Given the description of an element on the screen output the (x, y) to click on. 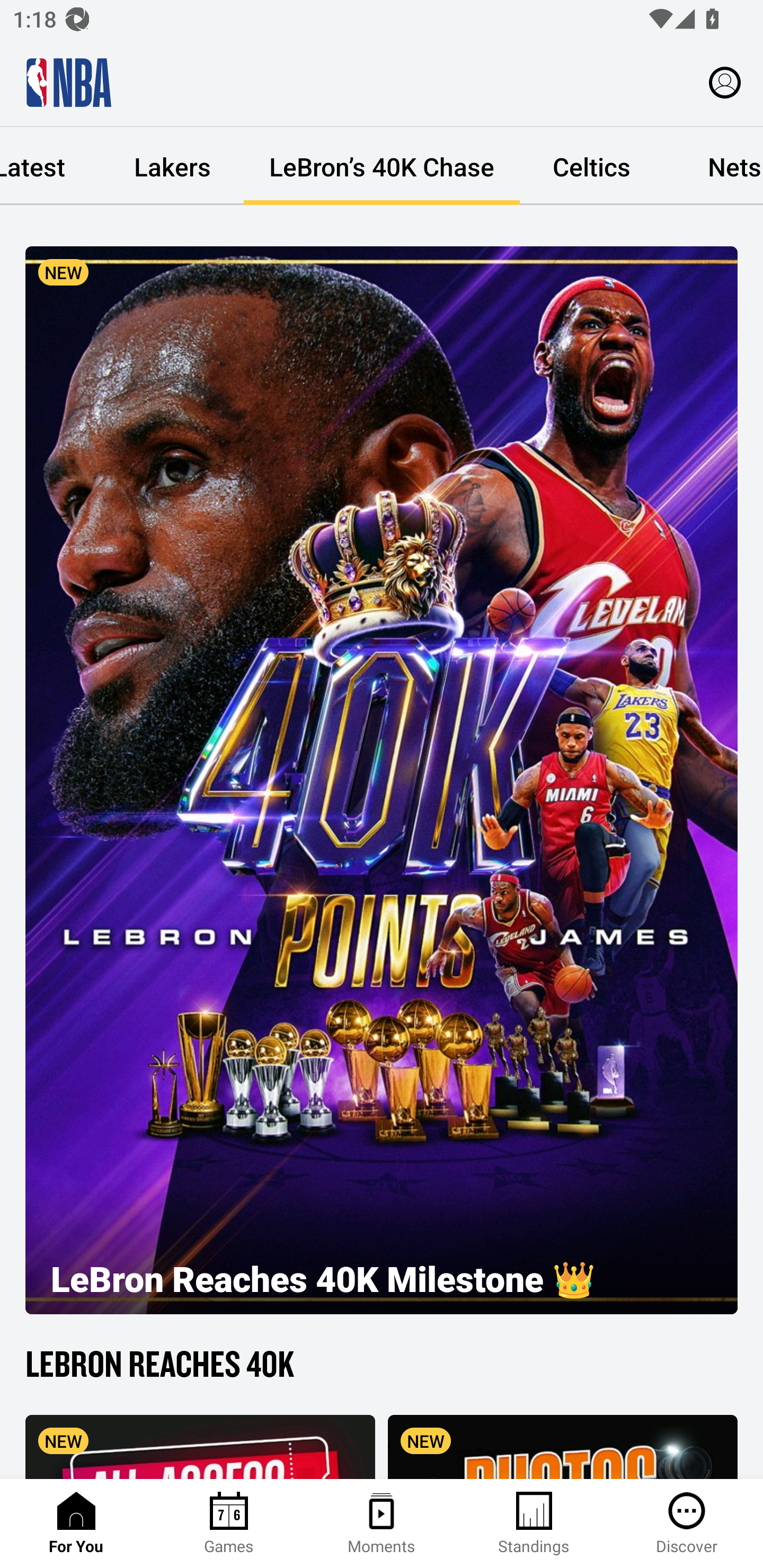
Profile (724, 81)
Lakers (171, 166)
Celtics (591, 166)
NEW LeBron Reaches 40K Milestone 👑 (381, 779)
LEBRON REACHES 40K NEW NEW (381, 1408)
Games (228, 1523)
Moments (381, 1523)
Standings (533, 1523)
Discover (686, 1523)
